Given the description of an element on the screen output the (x, y) to click on. 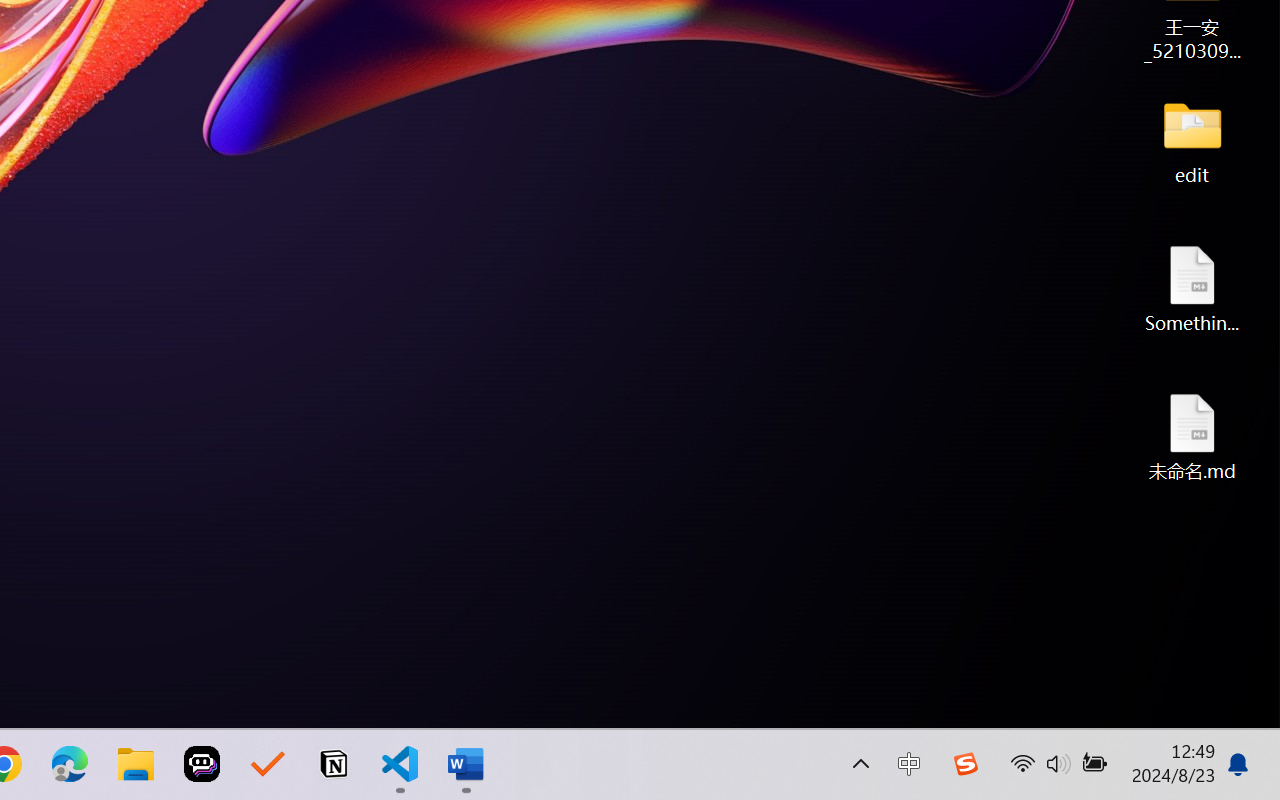
edit (1192, 140)
